Given the description of an element on the screen output the (x, y) to click on. 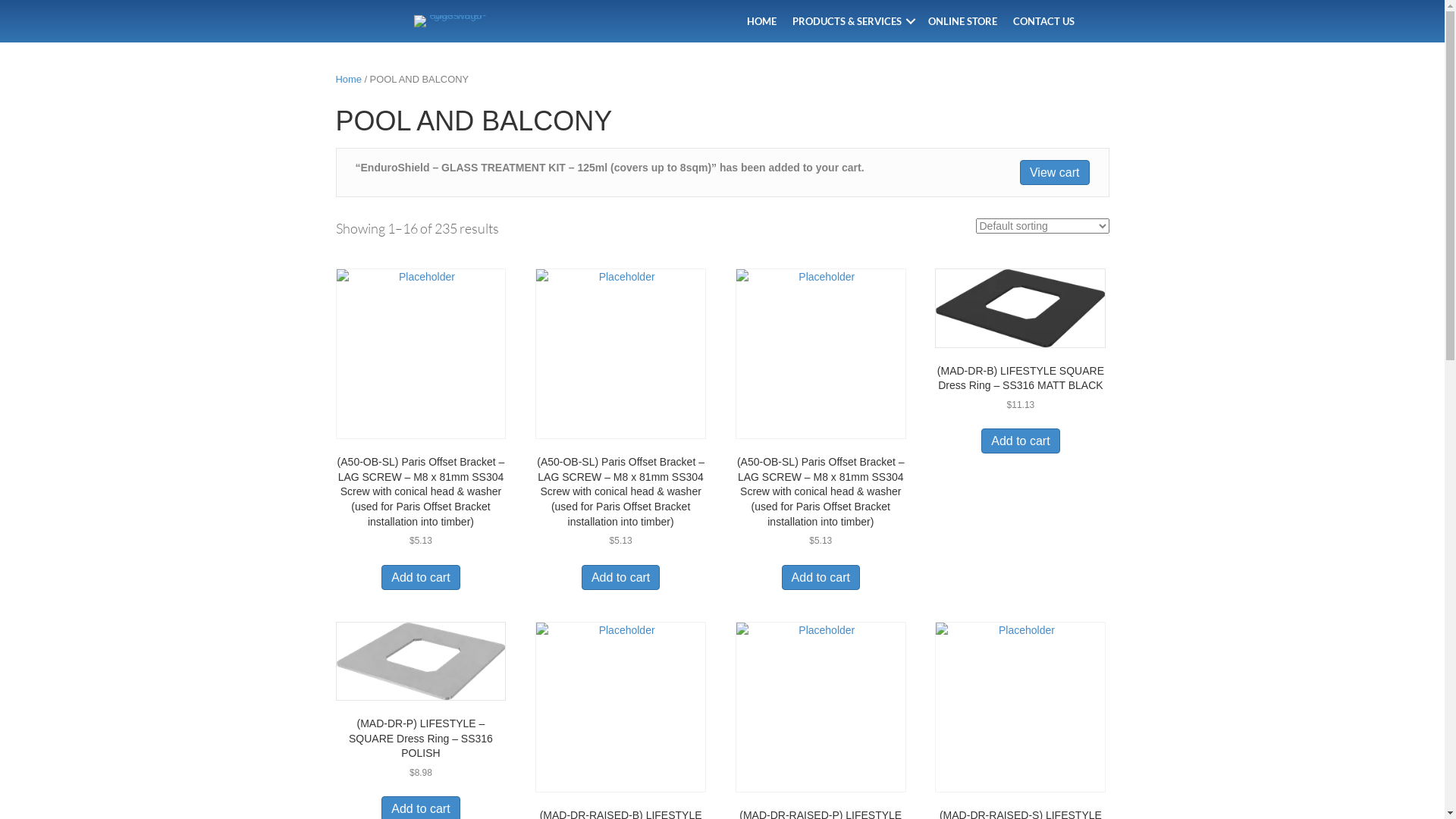
Add to cart Element type: text (620, 576)
CONTACT US Element type: text (1043, 21)
HOME Element type: text (761, 21)
Add to cart Element type: text (820, 576)
View cart Element type: text (1054, 172)
edge-water-glass-logo Element type: hover (451, 21)
Add to cart Element type: text (1020, 440)
Home Element type: text (347, 78)
Add to cart Element type: text (420, 576)
PRODUCTS & SERVICES Element type: text (851, 21)
ONLINE STORE Element type: text (962, 21)
